Given the description of an element on the screen output the (x, y) to click on. 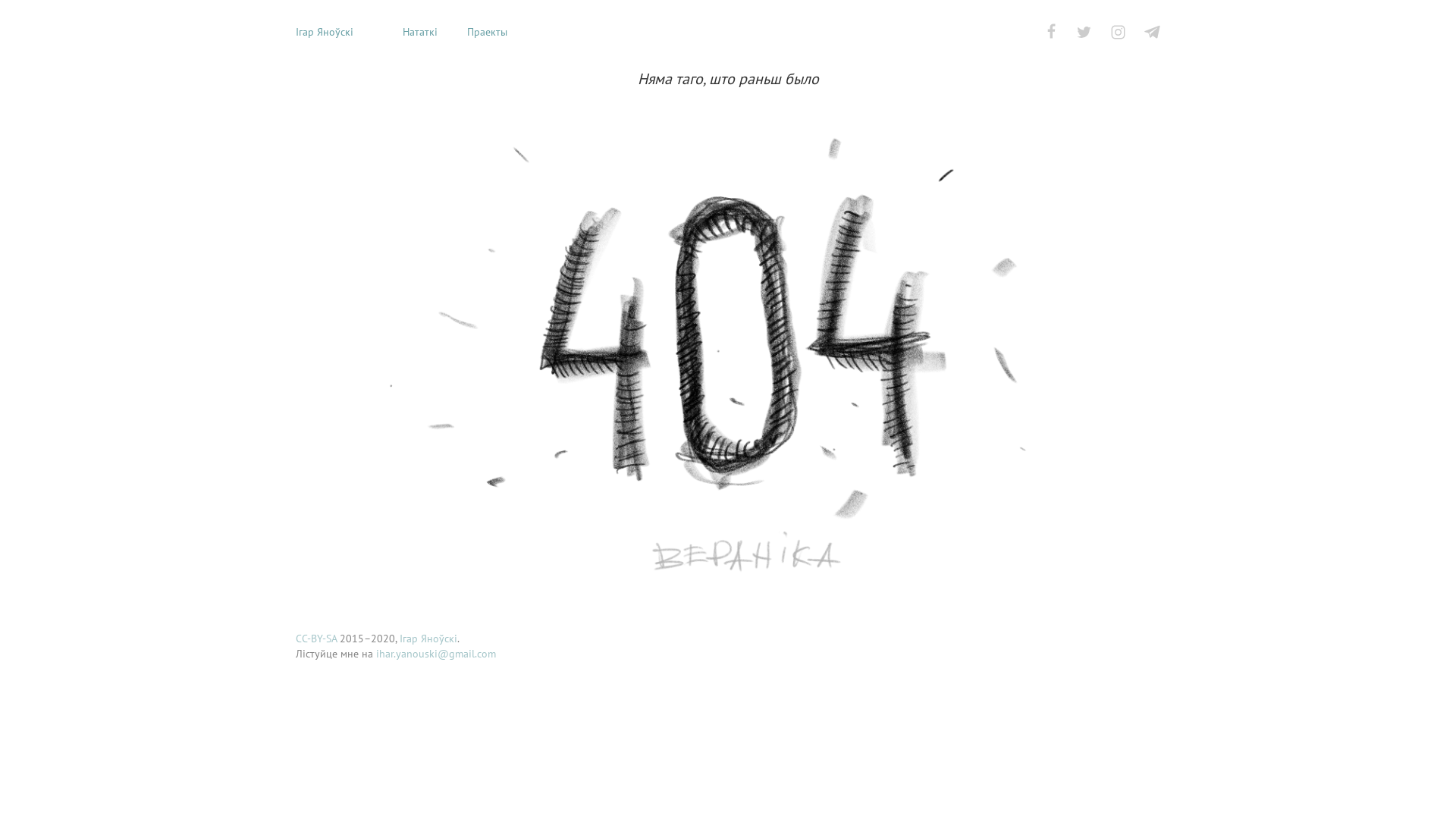
CC-BY-SA Element type: text (315, 638)
ihar.yanouski@gmail.com Element type: text (435, 653)
@czaroot Element type: hover (1052, 31)
@czaroot Element type: hover (1084, 31)
@czaroot Element type: hover (1152, 31)
@iharyanouski Element type: hover (1118, 31)
